Given the description of an element on the screen output the (x, y) to click on. 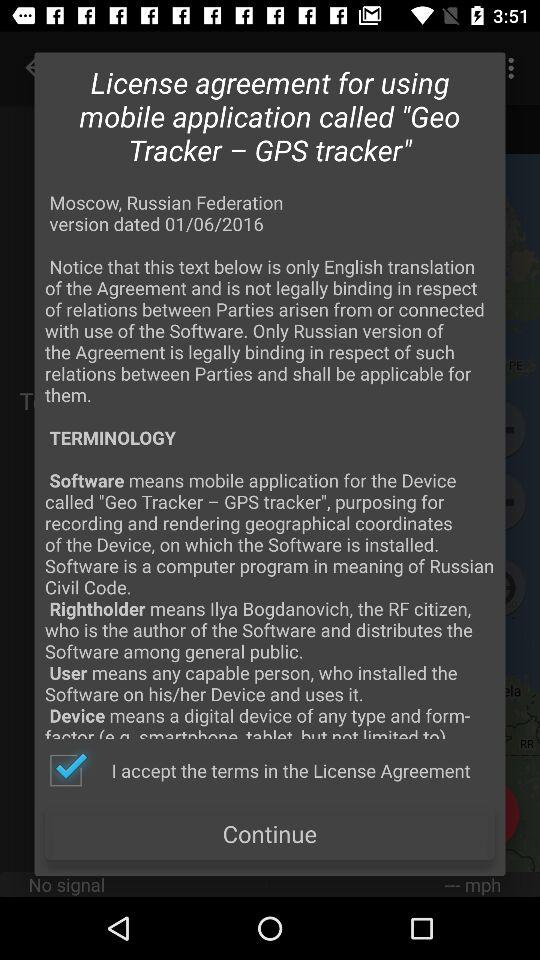
launch icon below moscow russian federation (259, 770)
